Given the description of an element on the screen output the (x, y) to click on. 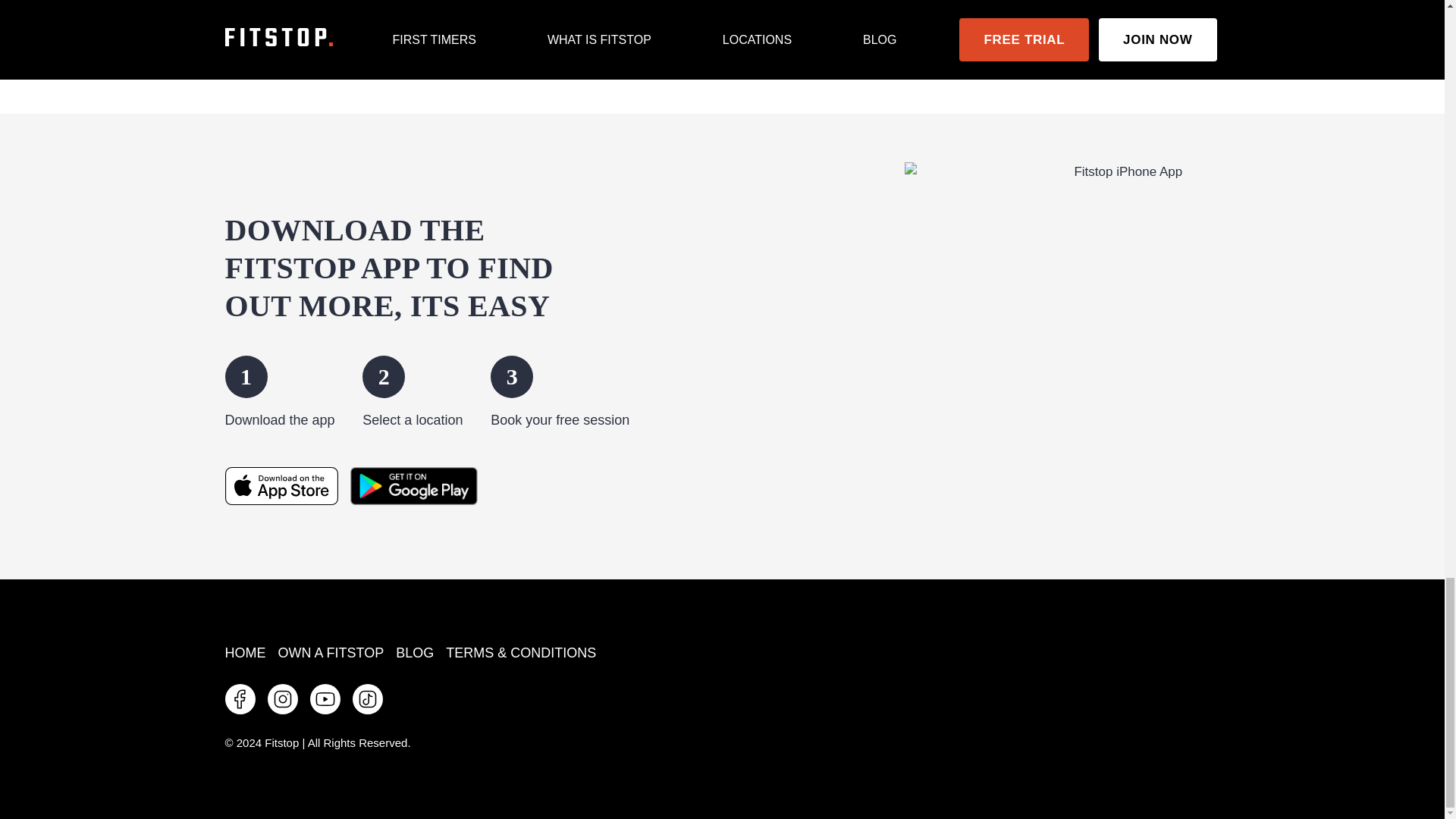
OWN A FITSTOP (330, 652)
BLOG (414, 652)
HOME (247, 652)
